Given the description of an element on the screen output the (x, y) to click on. 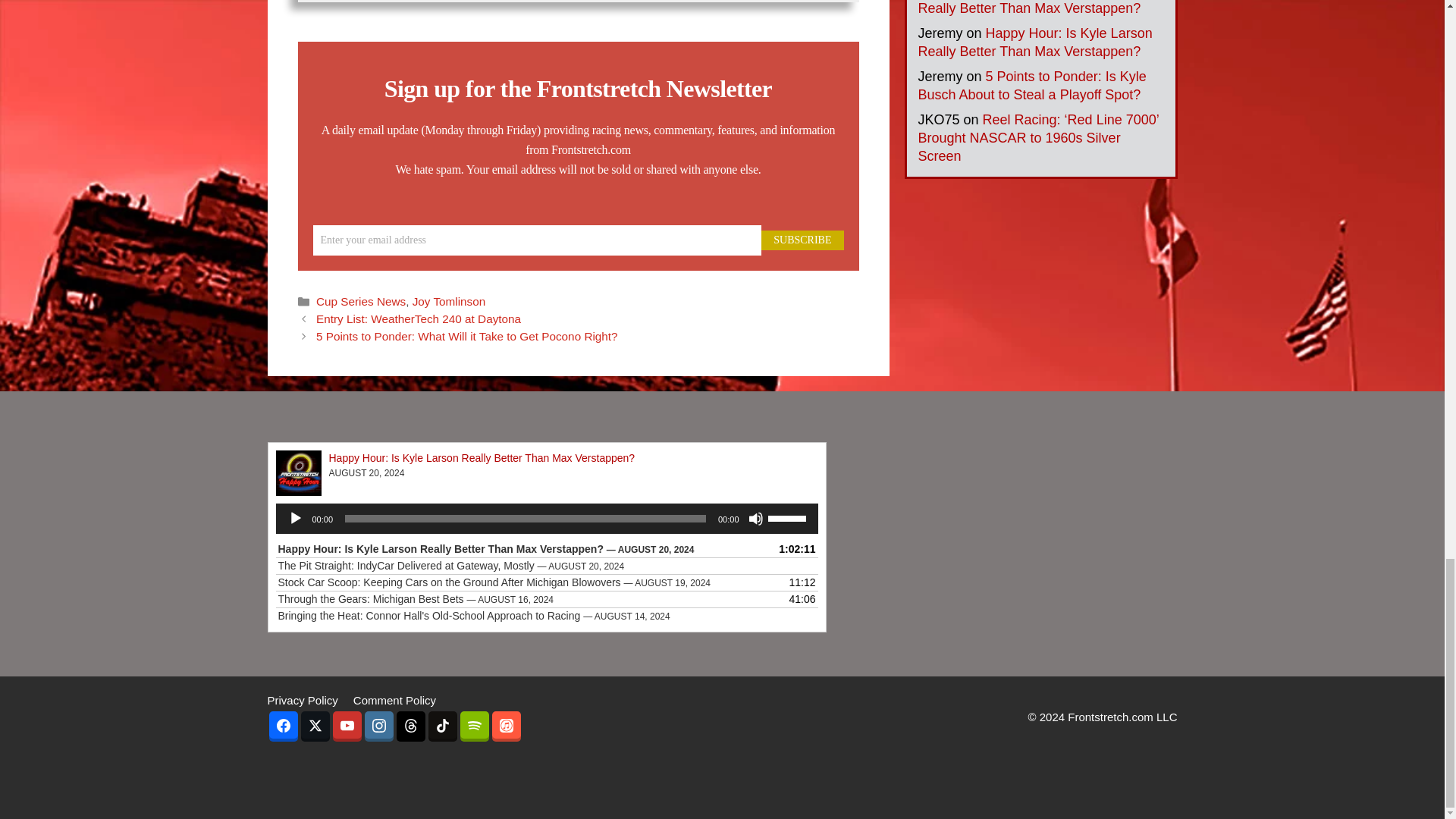
SUBSCRIBE (802, 240)
Play (295, 518)
Joy Tomlinson (449, 300)
Mute (755, 518)
Cup Series News (360, 300)
